Given the description of an element on the screen output the (x, y) to click on. 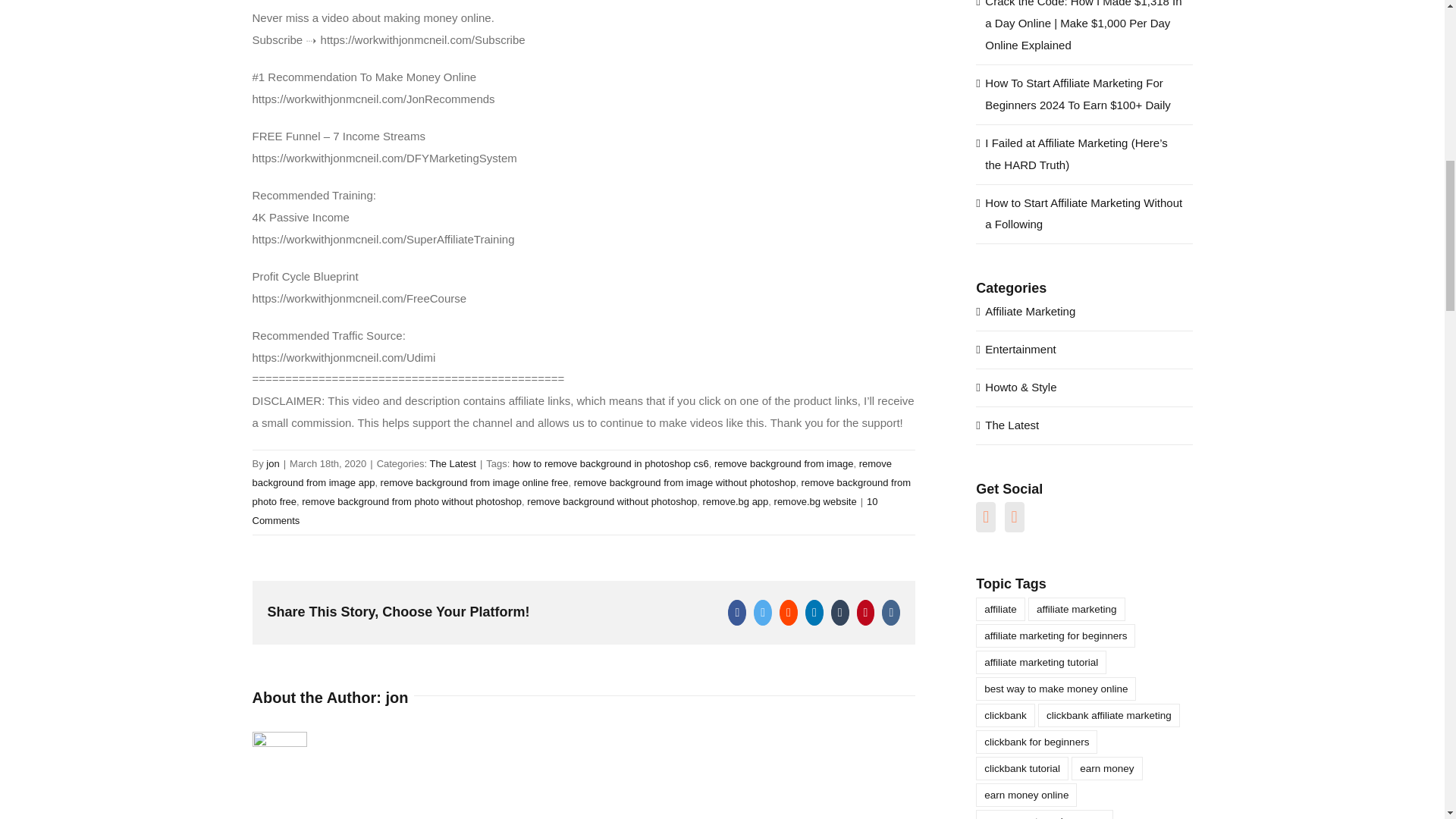
remove background without photoshop (612, 501)
how to remove background in photoshop cs6 (610, 463)
Posts by jon (272, 463)
remove background from photo without photoshop (411, 501)
The Latest (452, 463)
Posts by jon (396, 697)
jon (396, 697)
remove background from image app (571, 472)
10 Comments (564, 511)
remove background from image without photoshop (684, 482)
